Given the description of an element on the screen output the (x, y) to click on. 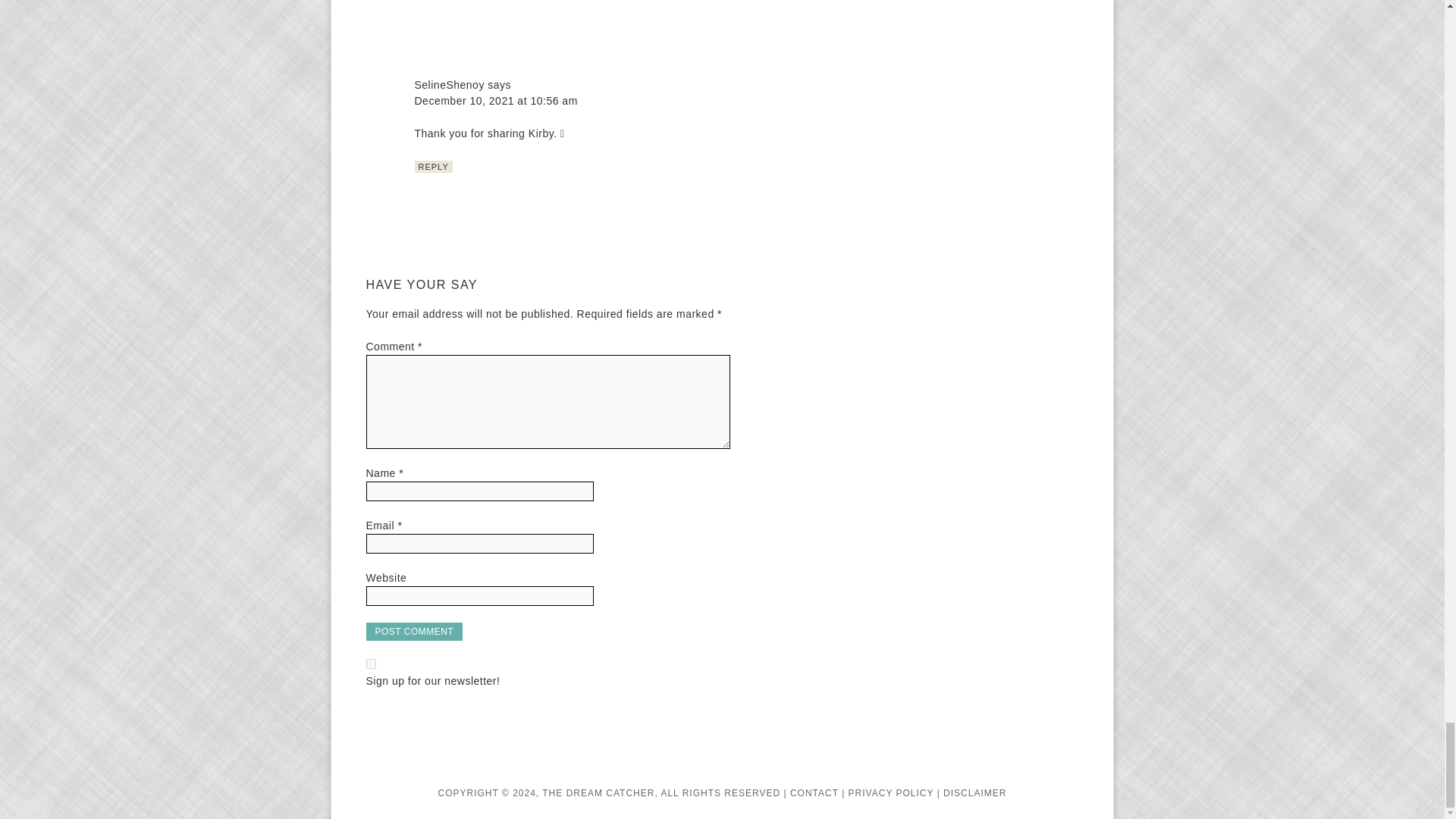
1 (370, 664)
Post Comment (414, 631)
